Given the description of an element on the screen output the (x, y) to click on. 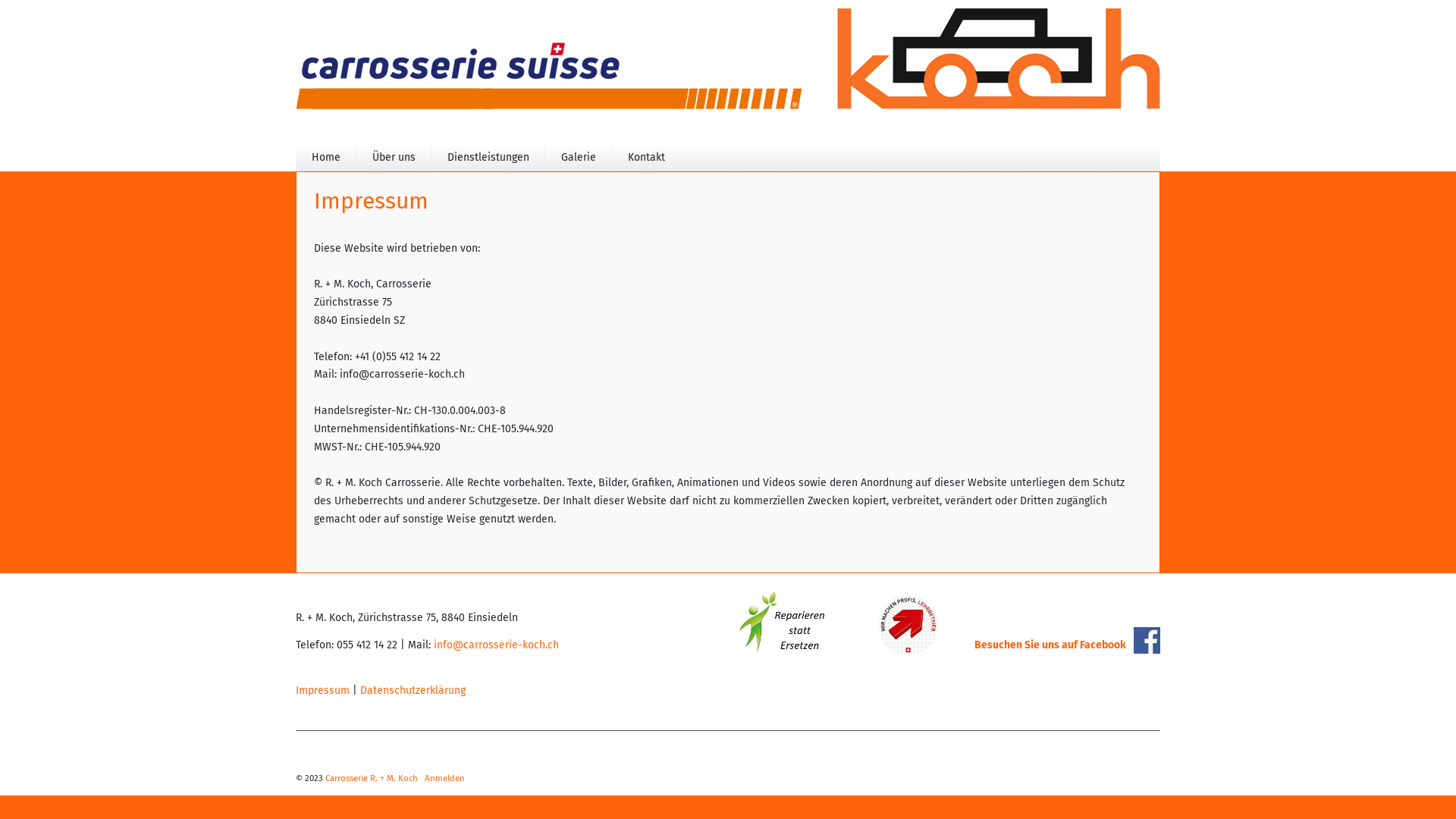
Home Element type: text (325, 157)
Impressum Element type: text (322, 690)
Kontakt Element type: text (646, 157)
Carrosserie R. + M. Koch Element type: text (371, 777)
 Anmelden Element type: text (443, 777)
Galerie Element type: text (578, 157)
info@carrosserie-koch.ch Element type: text (495, 644)
Dienstleistungen Element type: text (488, 157)
